Given the description of an element on the screen output the (x, y) to click on. 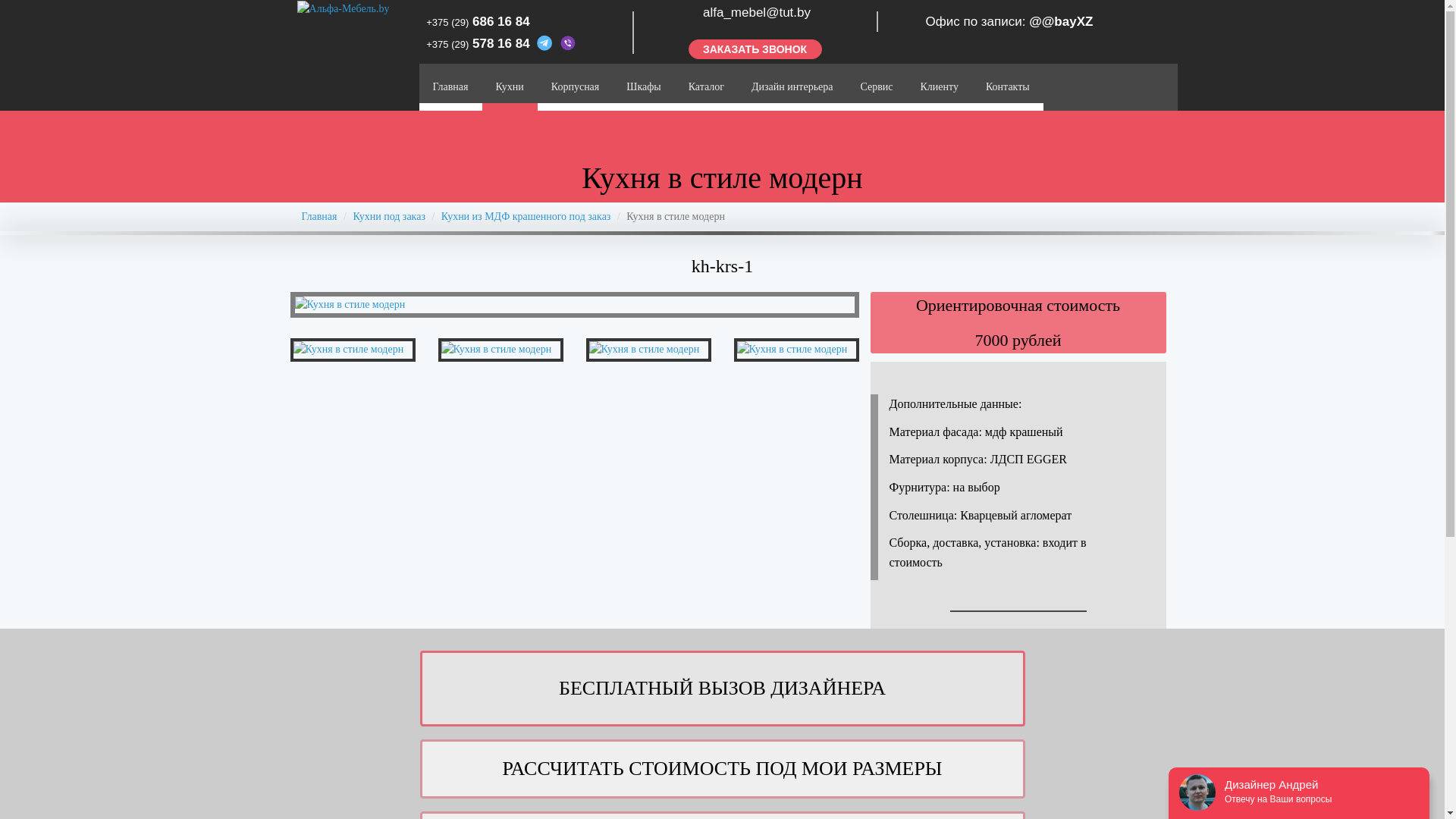
+375 (29) Element type: text (447, 22)
686 16 84 Element type: text (501, 21)
+375 (29) Element type: text (447, 44)
578 16 84 Element type: text (502, 43)
